Given the description of an element on the screen output the (x, y) to click on. 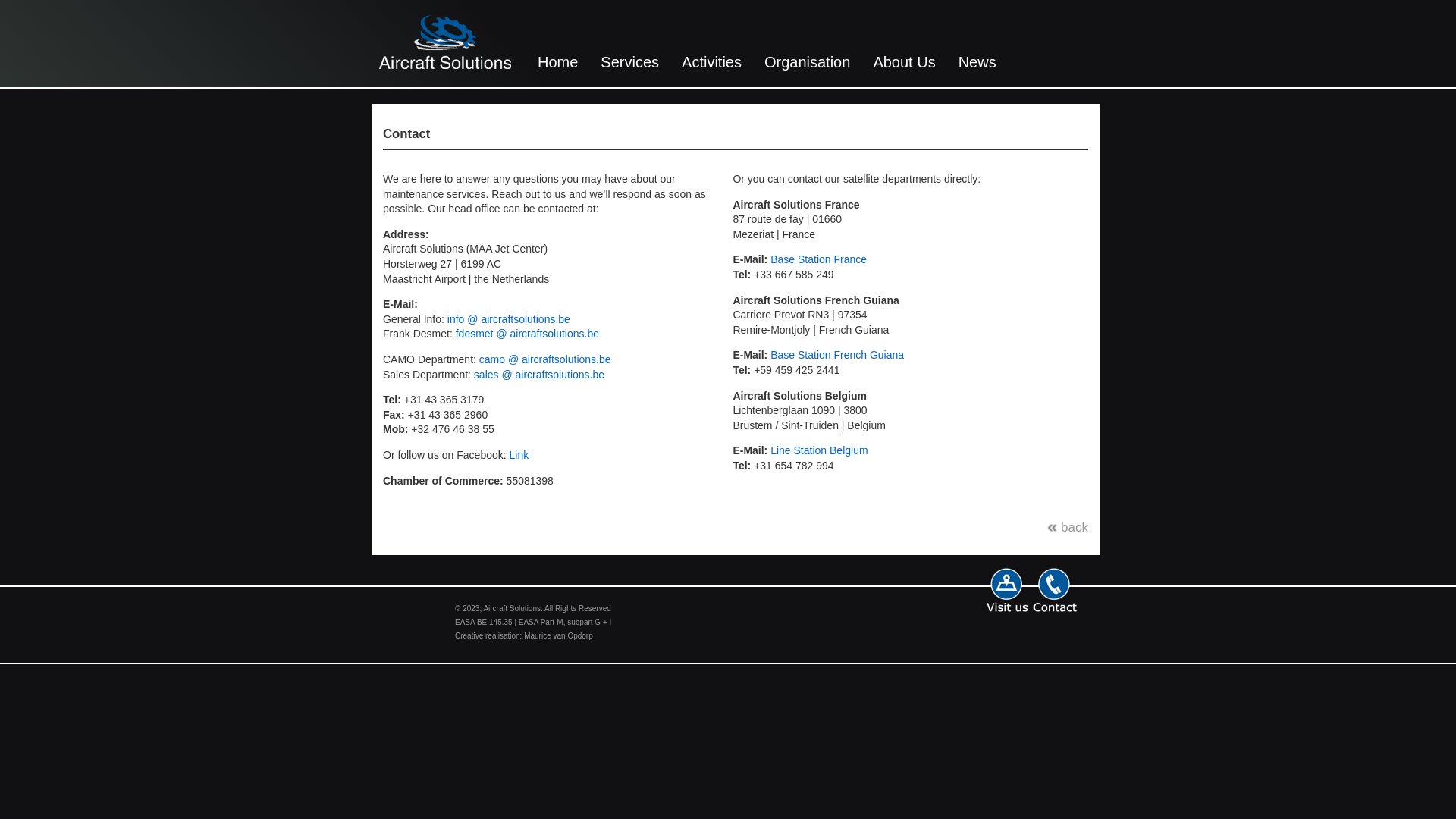
fdesmet @ aircraftsolutions.be Element type: text (527, 333)
Activities Element type: text (711, 61)
News Element type: text (977, 61)
camo @ aircraftsolutions.be Element type: text (545, 359)
info @ aircraftsolutions.be Element type: text (508, 319)
Base Station France Element type: text (818, 259)
back Element type: text (1067, 527)
About Us Element type: text (903, 61)
Line Station Belgium Element type: text (818, 450)
Base Station French Guiana Element type: text (836, 354)
Services Element type: text (629, 61)
Organisation Element type: text (807, 61)
sales @ aircraftsolutions.be Element type: text (538, 374)
Home Element type: text (557, 61)
Link Element type: text (517, 454)
